Given the description of an element on the screen output the (x, y) to click on. 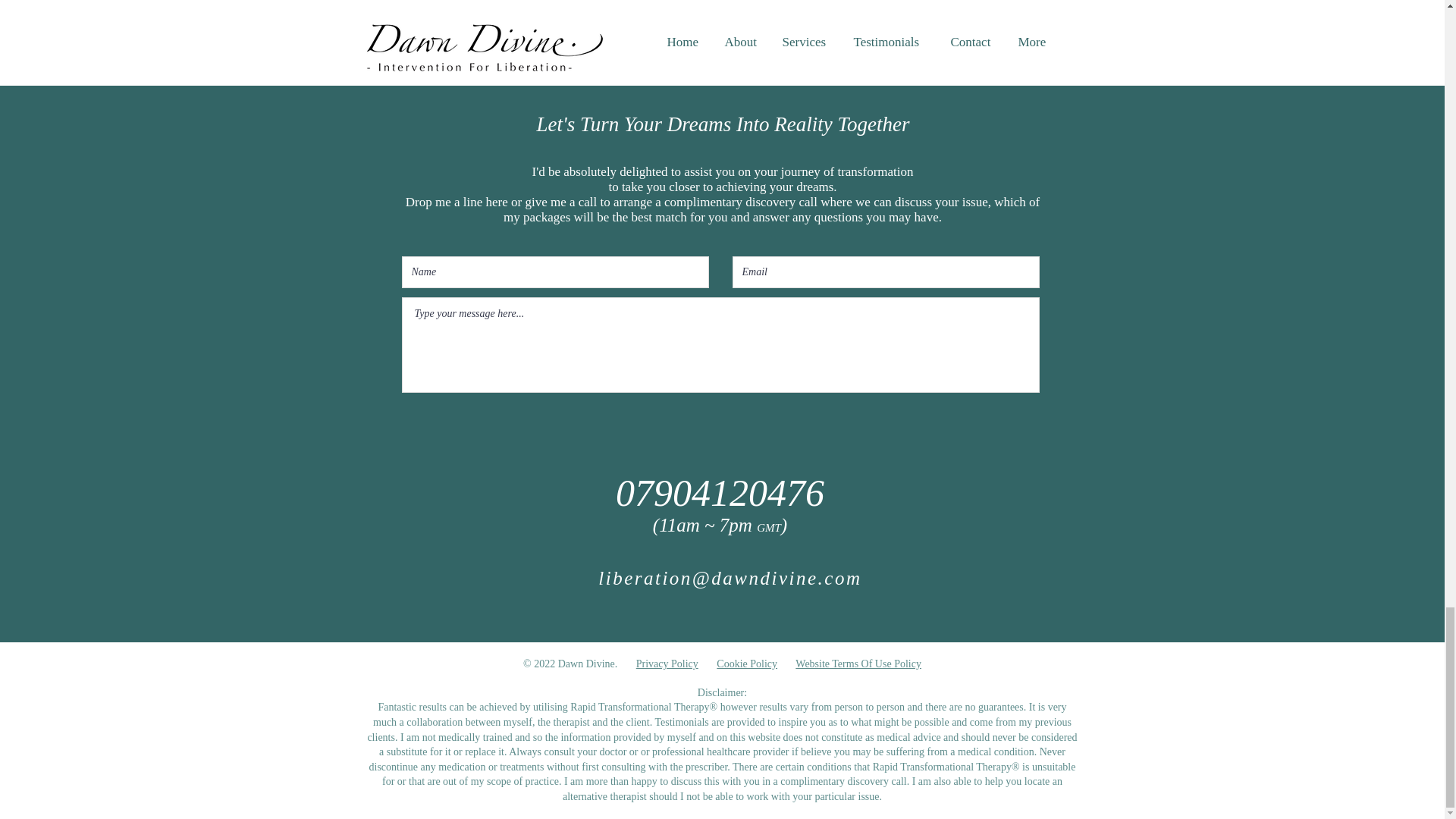
Post not marked as liked (558, 4)
Post not marked as liked (804, 4)
0 (440, 3)
0 (685, 3)
